Given the description of an element on the screen output the (x, y) to click on. 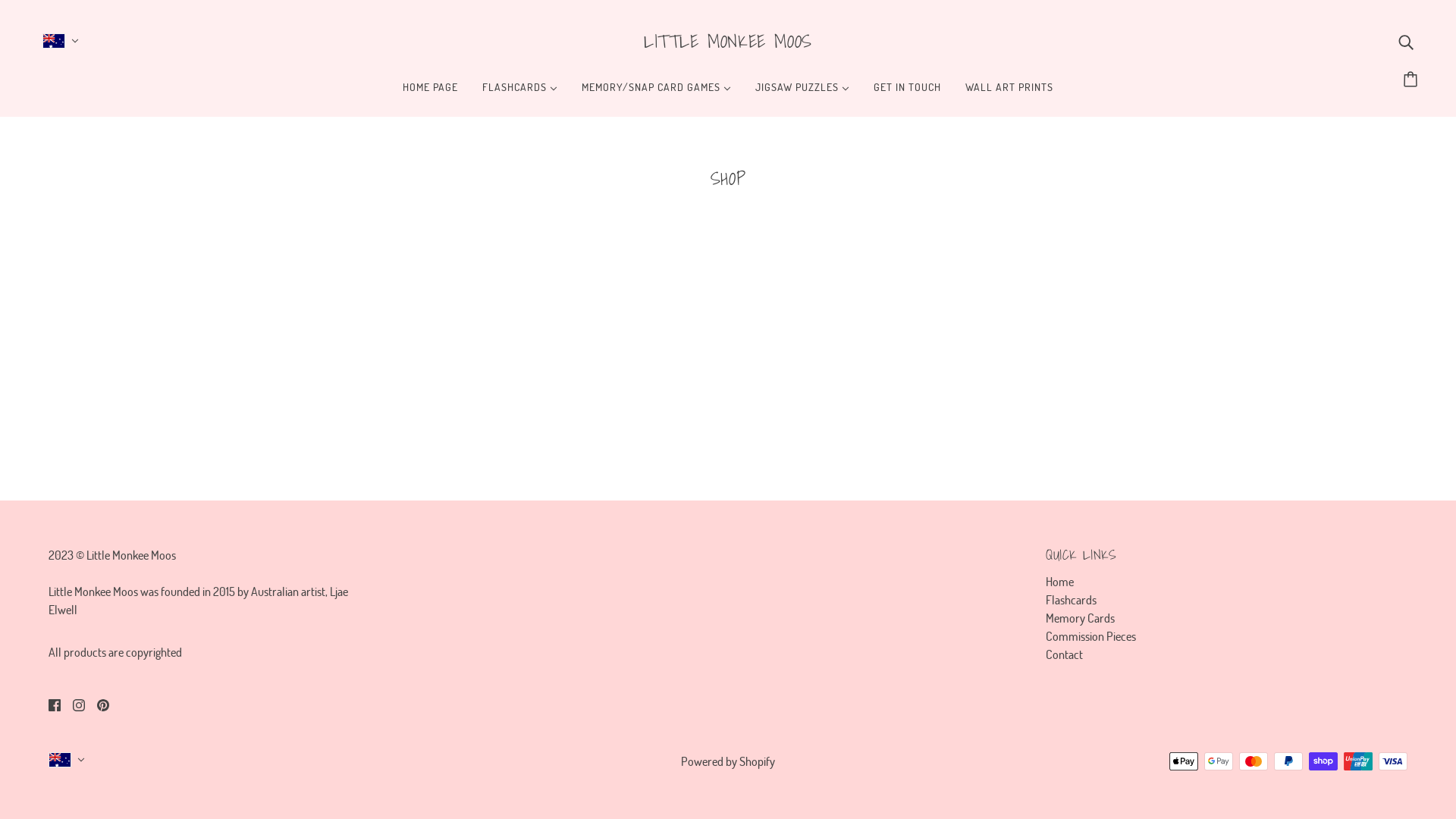
JIGSAW PUZZLES  Element type: text (802, 92)
LITTLE MONKEE MOOS Element type: text (727, 40)
WALL ART PRINTS Element type: text (1009, 92)
MEMORY/SNAP CARD GAMES  Element type: text (656, 92)
Home Element type: text (1059, 581)
FLASHCARDS  Element type: text (519, 92)
Memory Cards Element type: text (1079, 617)
Commission Pieces Element type: text (1090, 635)
Contact Element type: text (1063, 654)
Powered by Shopify Element type: text (727, 760)
HOME PAGE Element type: text (430, 92)
GET IN TOUCH Element type: text (907, 92)
Flashcards Element type: text (1070, 599)
